Given the description of an element on the screen output the (x, y) to click on. 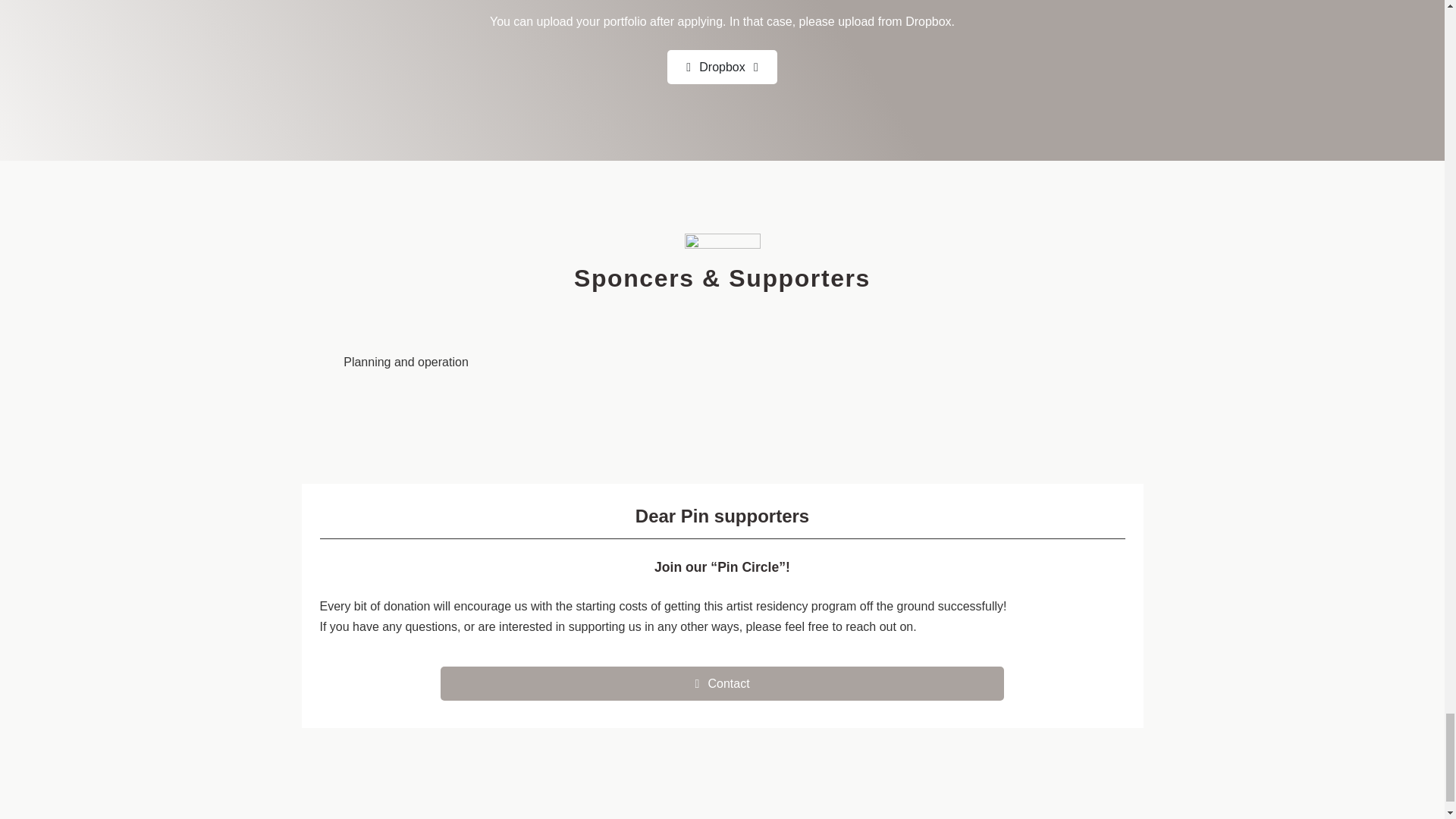
Dropbox (721, 66)
Contact (722, 683)
